Given the description of an element on the screen output the (x, y) to click on. 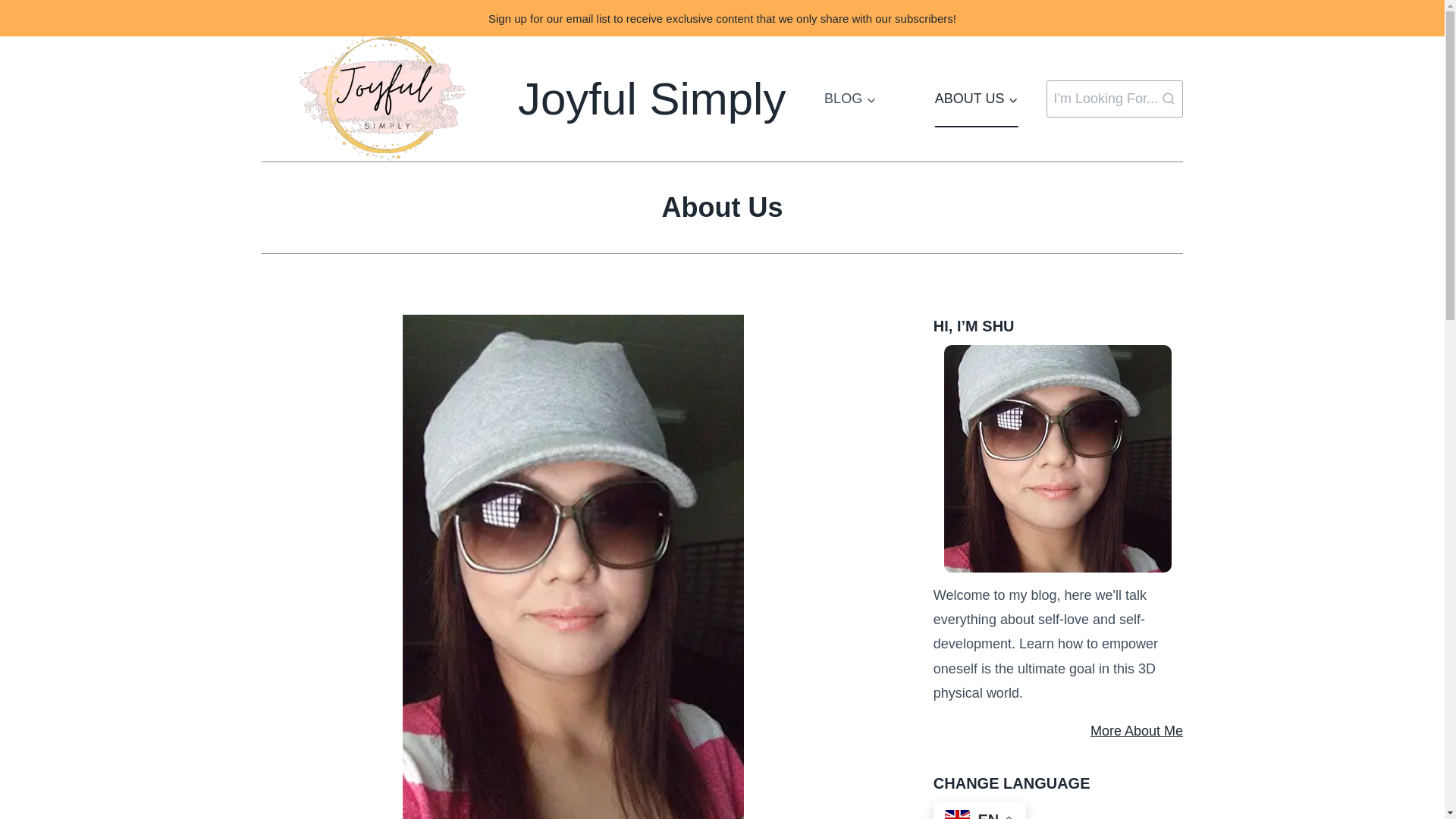
Joyful Simply (524, 98)
I'm Looking For... (1114, 98)
More About Me (1057, 730)
ABOUT US (976, 98)
BLOG (849, 98)
